Given the description of an element on the screen output the (x, y) to click on. 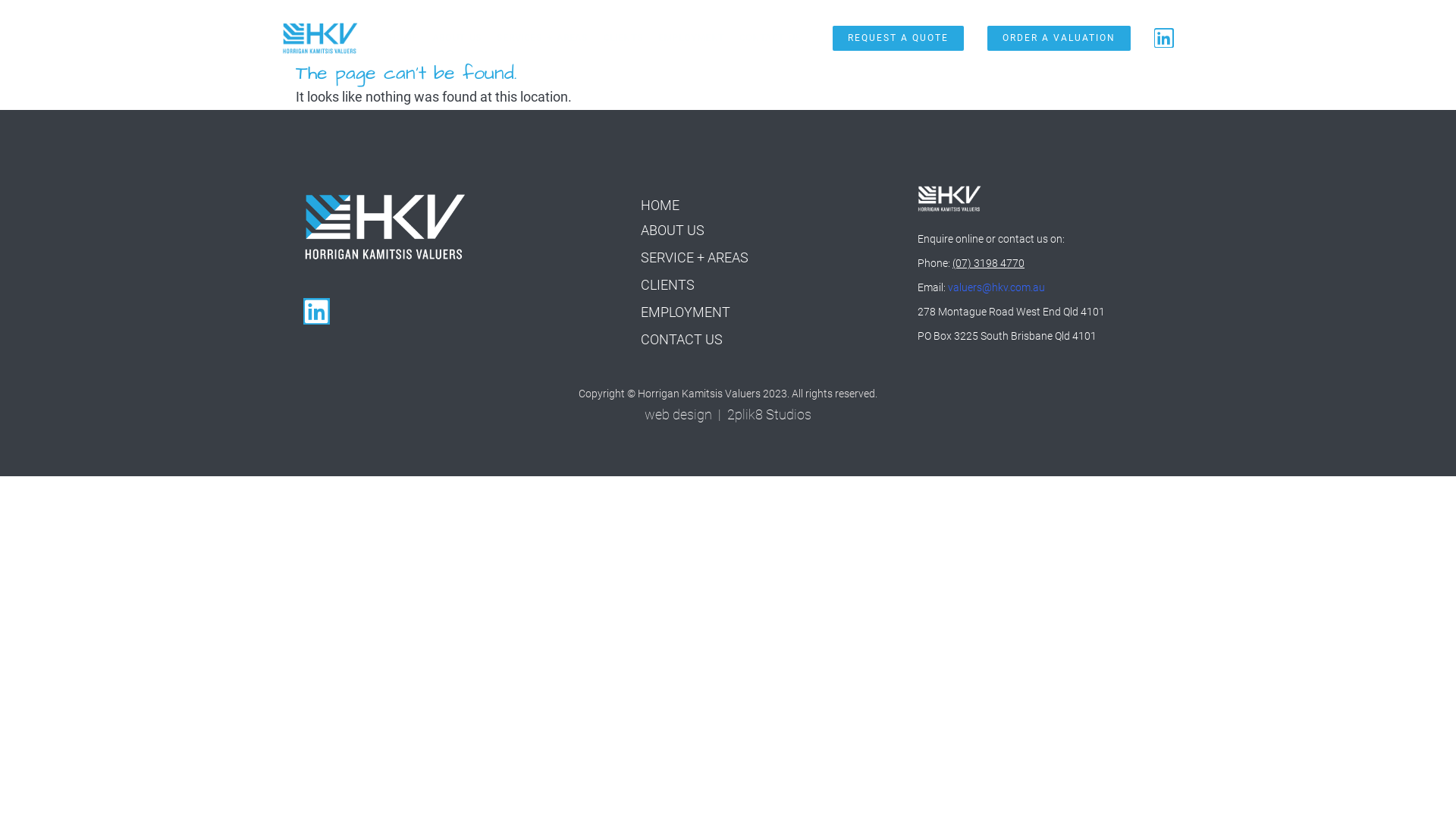
EMPLOYMENT Element type: text (685, 312)
HOME Element type: text (659, 205)
CONTACT US Element type: text (770, 37)
ORDER A VALUATION Element type: text (1058, 37)
ABOUT US Element type: text (672, 230)
HOME Element type: text (402, 37)
SERVICES + AREAS Element type: text (542, 37)
CLIENTS Element type: text (667, 284)
CLIENTS Element type: text (623, 37)
(07) 3198 4770 Element type: text (988, 263)
web design  |  2plik8 Studios Element type: text (727, 414)
SERVICE + AREAS Element type: text (694, 257)
ABOUT US Element type: text (456, 37)
CONTACT US Element type: text (681, 339)
valuers@hkv.com.au Element type: text (995, 287)
REQUEST A QUOTE Element type: text (897, 37)
EMPLOYMENT Element type: text (690, 37)
